Given the description of an element on the screen output the (x, y) to click on. 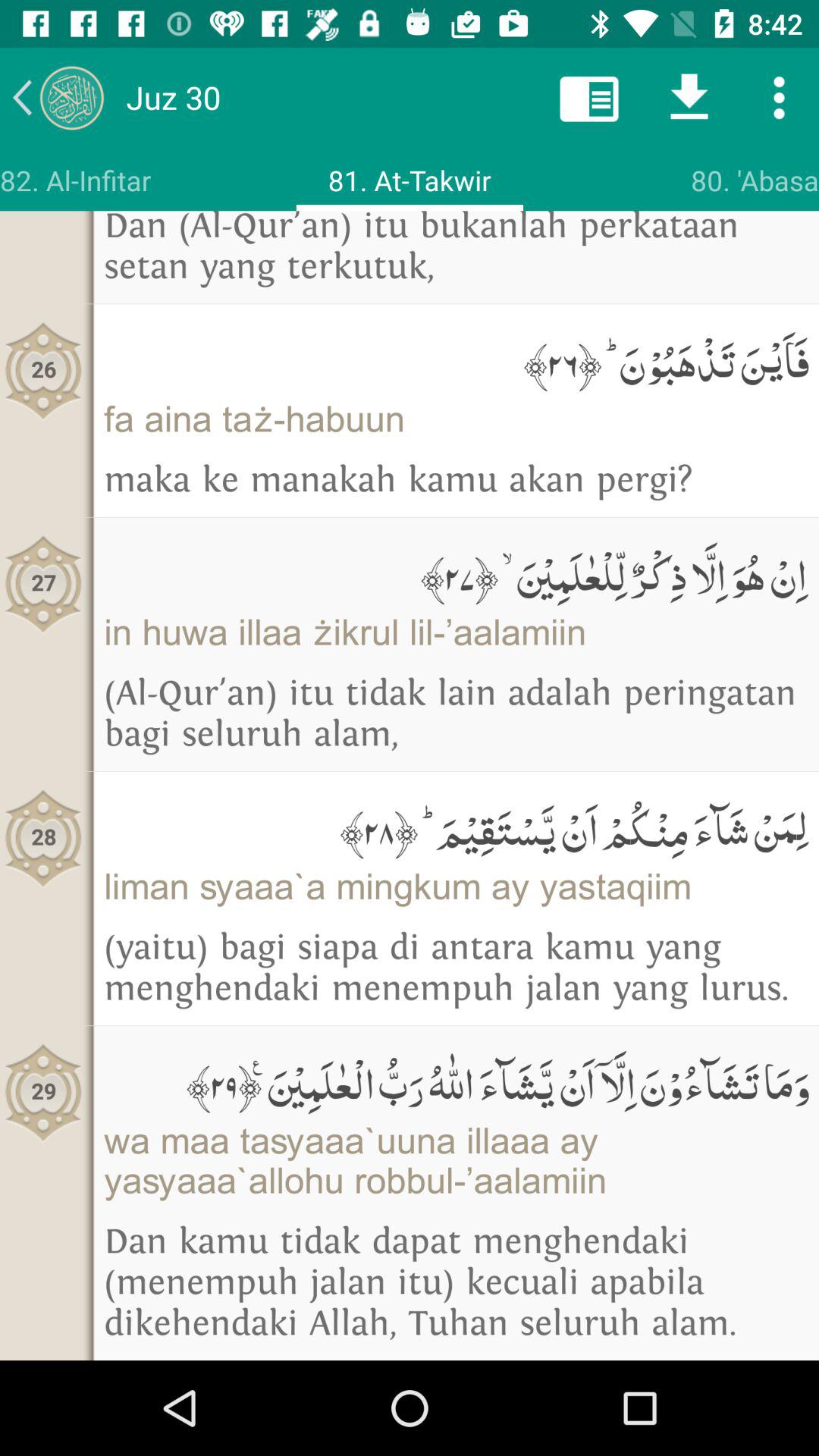
scroll until the 29 (43, 1092)
